Given the description of an element on the screen output the (x, y) to click on. 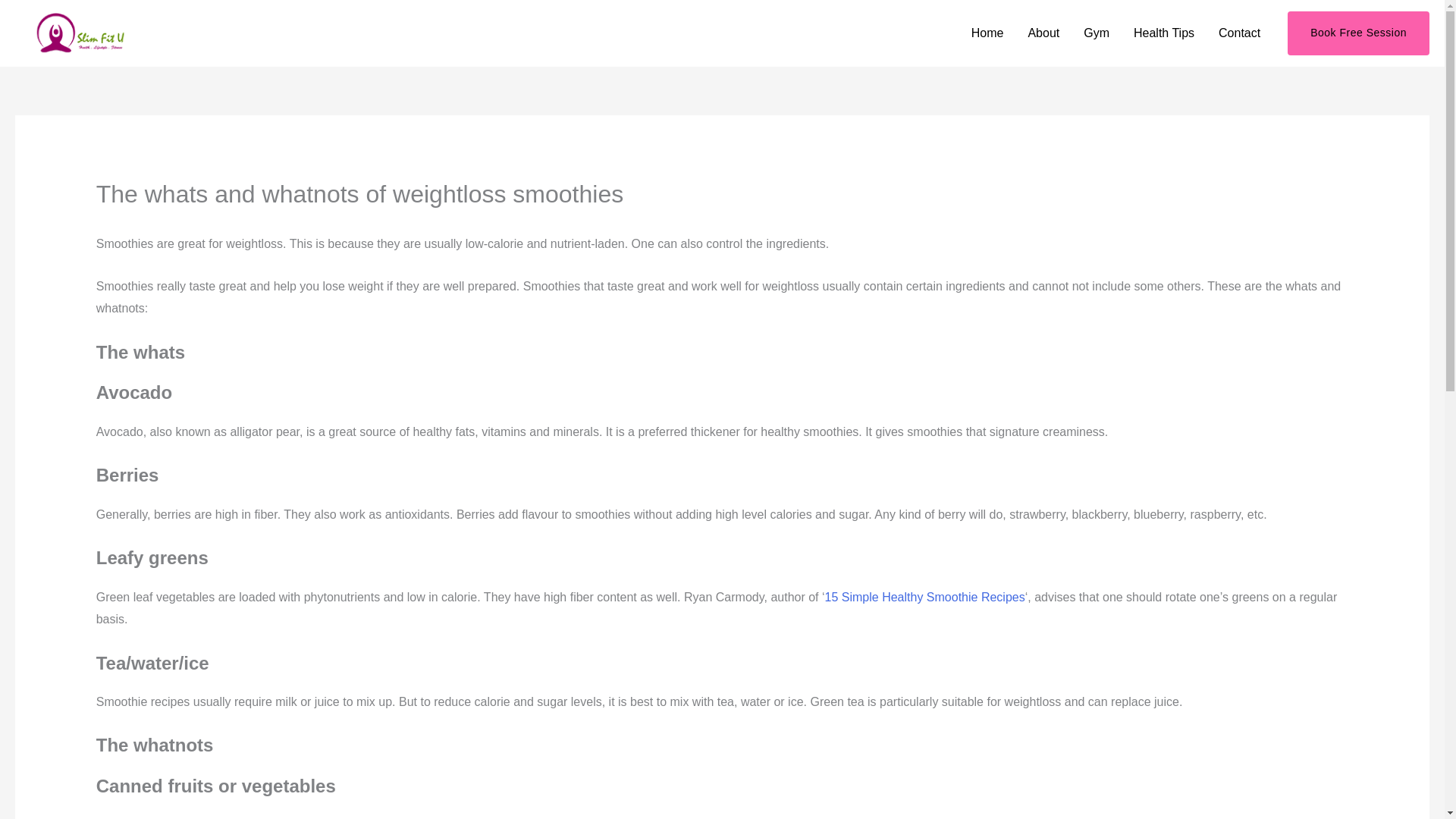
Home (987, 32)
Contact (1239, 32)
About (1042, 32)
Gym (1096, 32)
Health Tips (1164, 32)
15 Simple Healthy Smoothie Recipes (925, 596)
Book Free Session (1358, 33)
